Given the description of an element on the screen output the (x, y) to click on. 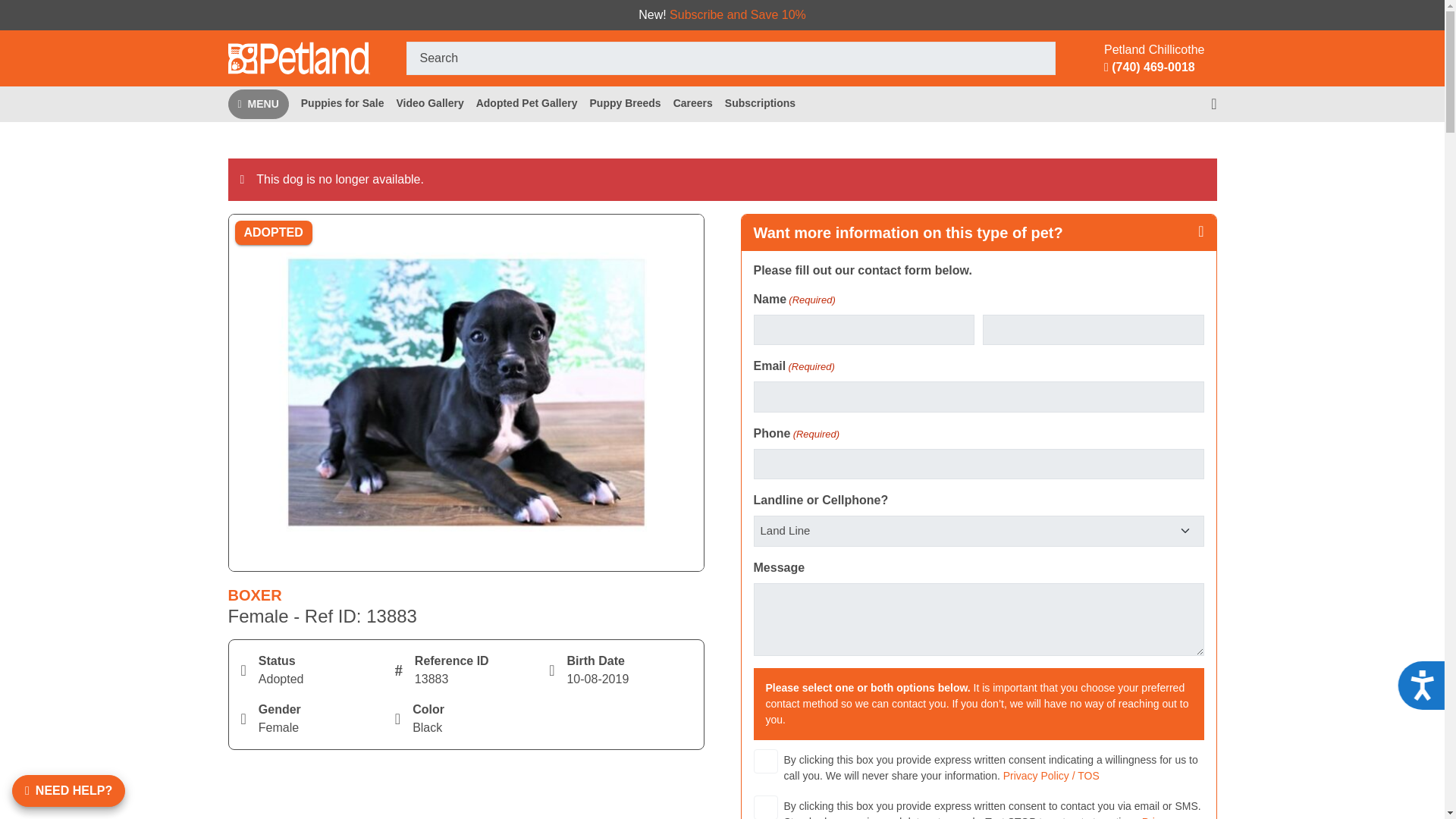
1 (765, 761)
1 (765, 807)
